Given the description of an element on the screen output the (x, y) to click on. 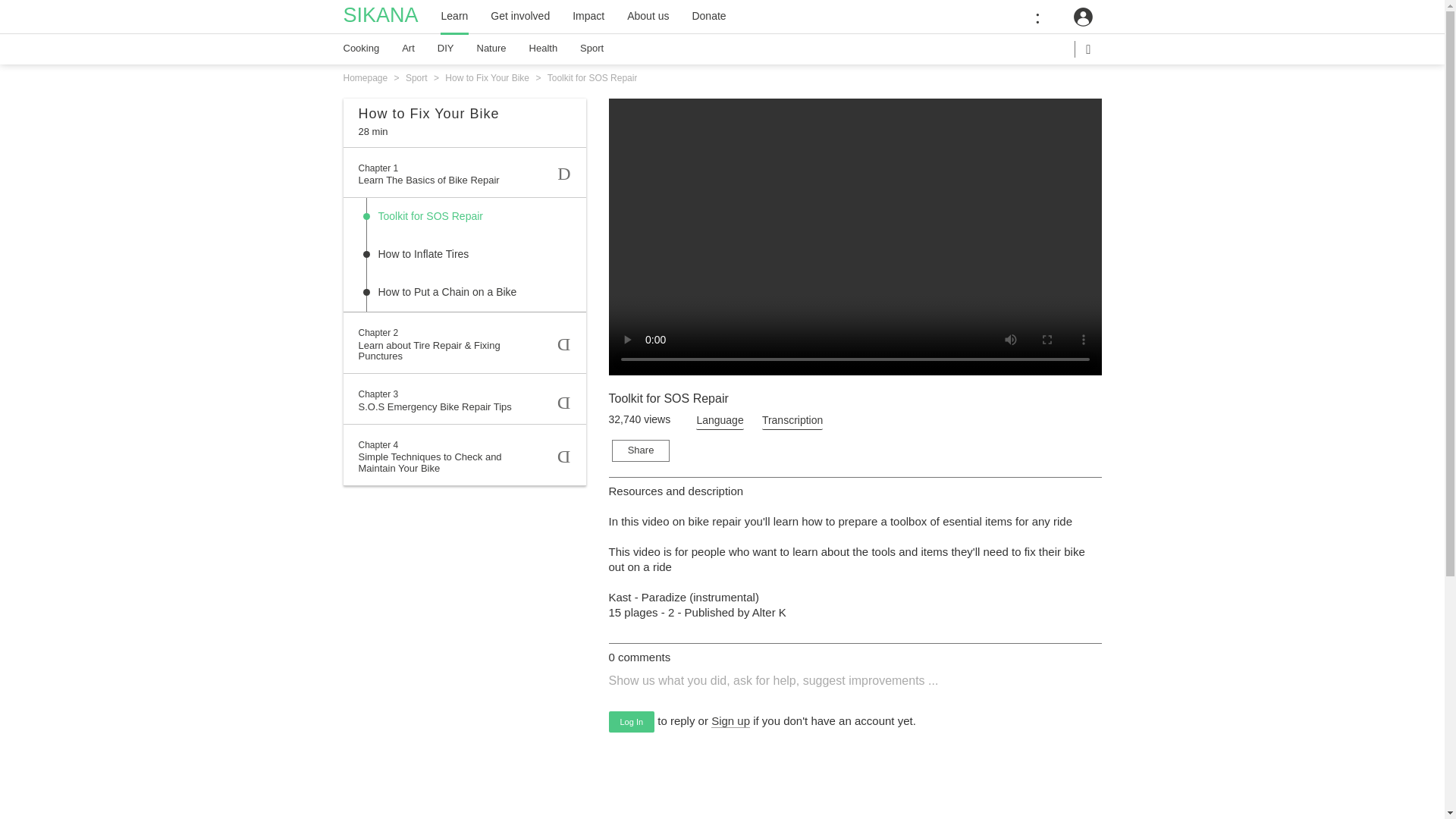
Log in or Sign up (1083, 16)
En (1045, 16)
Get involved (519, 16)
Nature (492, 49)
Learn (454, 16)
Impact (588, 16)
Cooking (362, 49)
Health (543, 49)
SIKANA (382, 16)
Donate (708, 16)
